Given the description of an element on the screen output the (x, y) to click on. 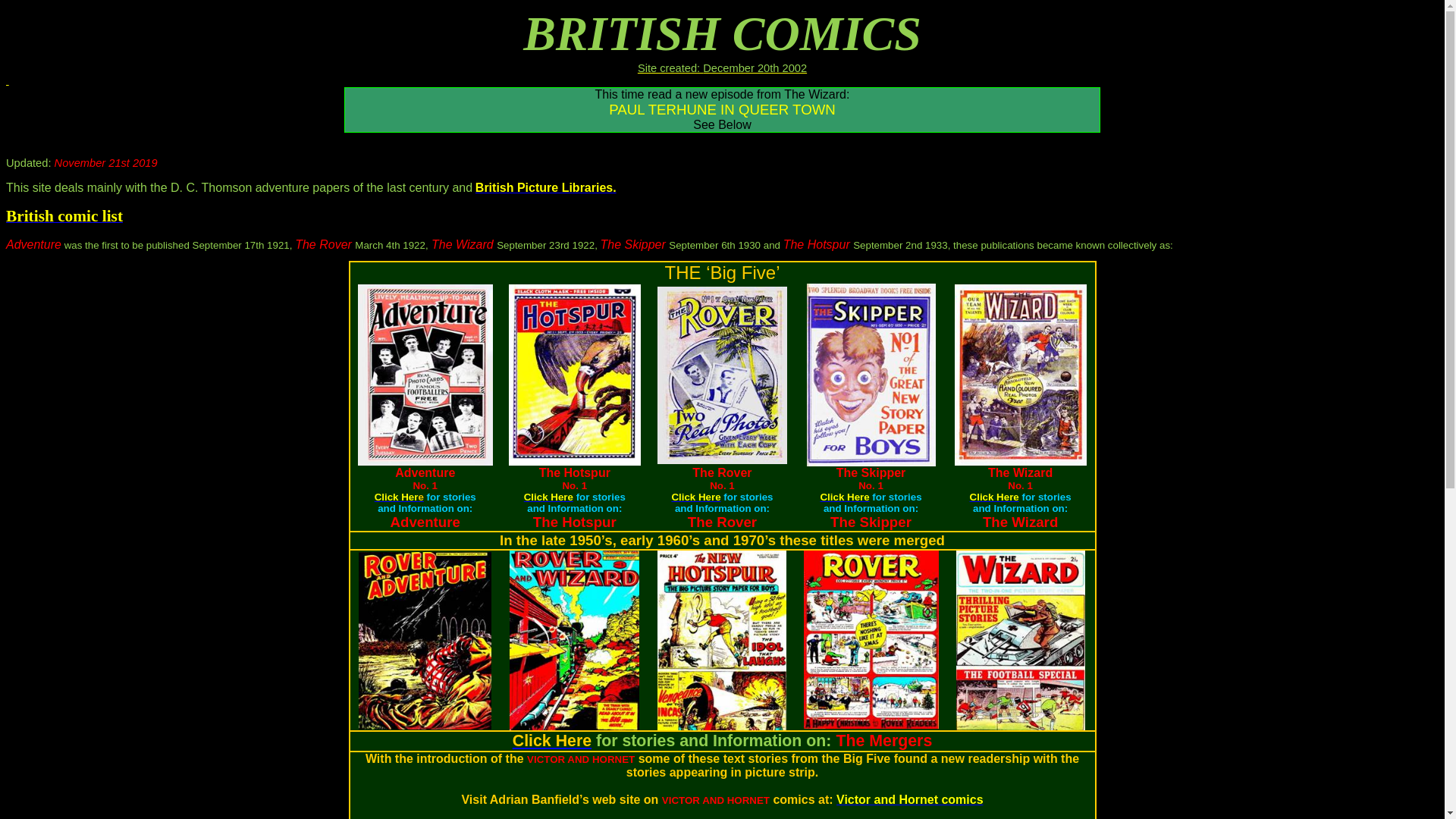
Click Here Element type: text (398, 495)
Click Here Element type: text (551, 740)
Click Here Element type: text (994, 495)
Victor and Hornet comics Element type: text (909, 799)
Click Here Element type: text (695, 495)
British comic list Element type: text (64, 216)
Click Here Element type: text (548, 495)
Click Here Element type: text (844, 495)
British Picture Libraries. Element type: text (545, 187)
